Given the description of an element on the screen output the (x, y) to click on. 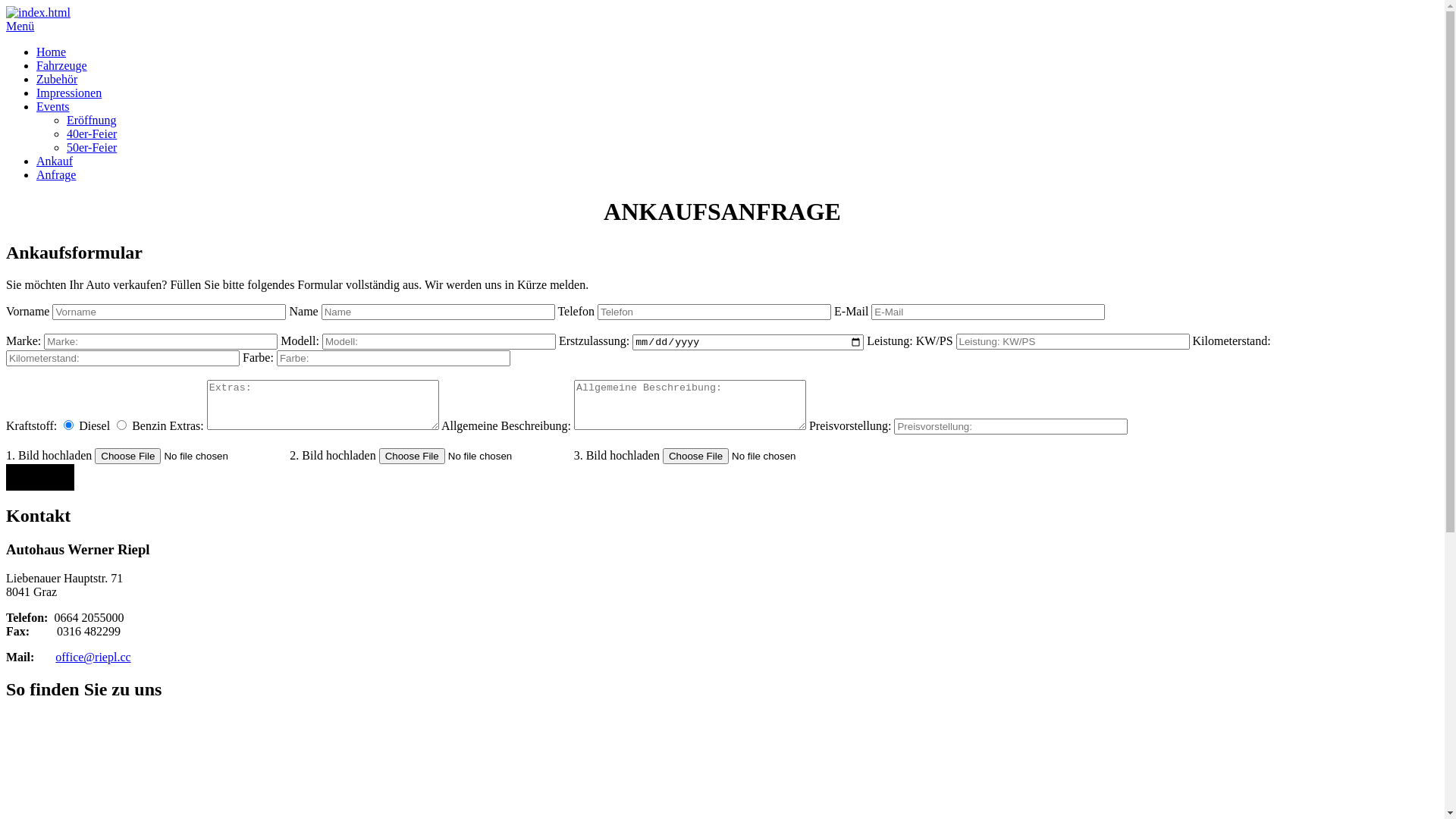
Home Element type: text (50, 51)
Absenden Element type: text (40, 477)
Events Element type: text (52, 106)
Ankauf Element type: text (54, 160)
Impressionen Element type: text (68, 92)
40er-Feier Element type: text (91, 133)
office@riepl.cc Element type: text (92, 656)
Fahrzeuge Element type: text (61, 65)
Anfrage Element type: text (55, 174)
50er-Feier Element type: text (91, 147)
